Given the description of an element on the screen output the (x, y) to click on. 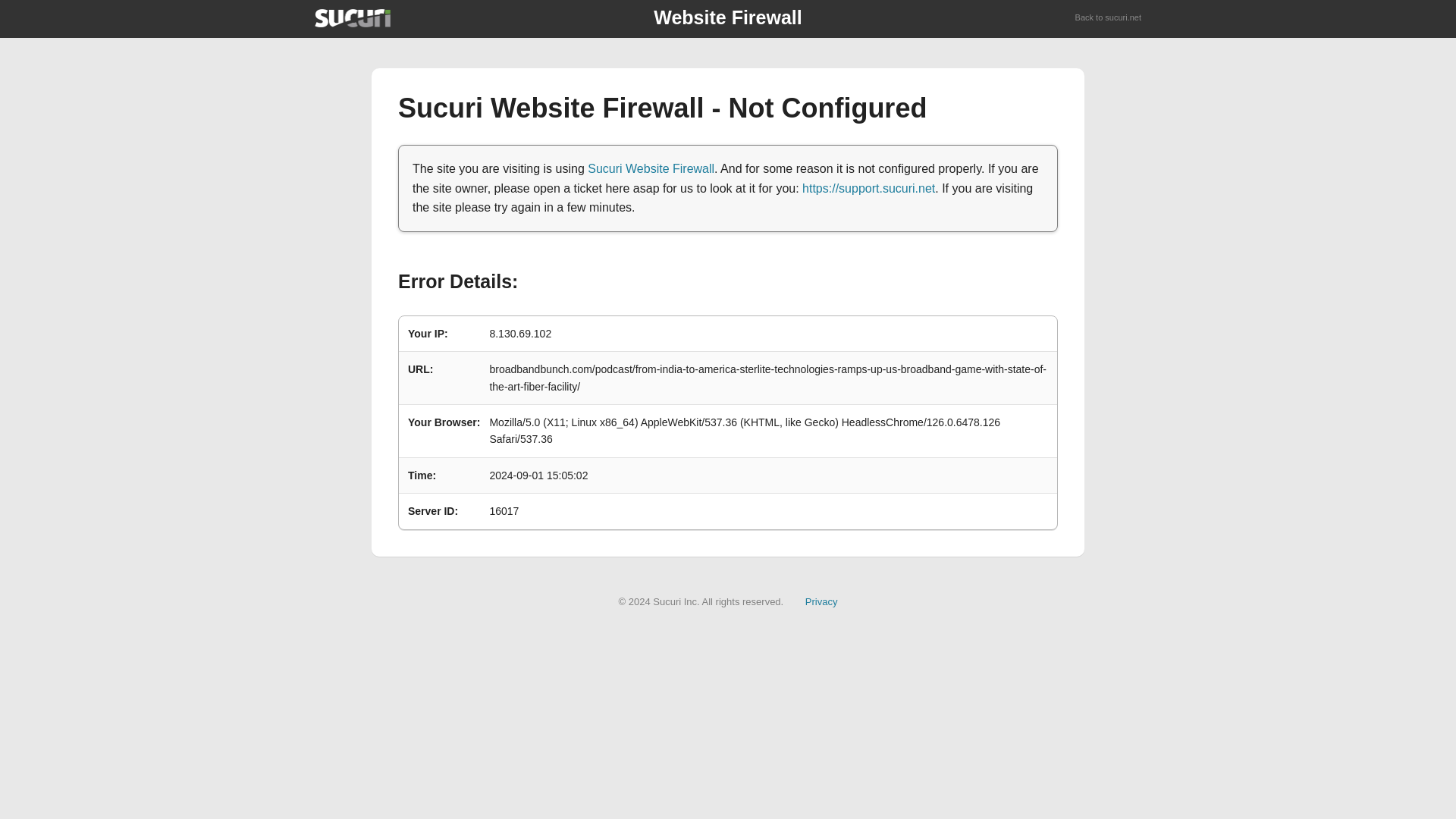
Sucuri Website Firewall (651, 168)
Back to sucuri.net (1108, 18)
Privacy (821, 601)
